Given the description of an element on the screen output the (x, y) to click on. 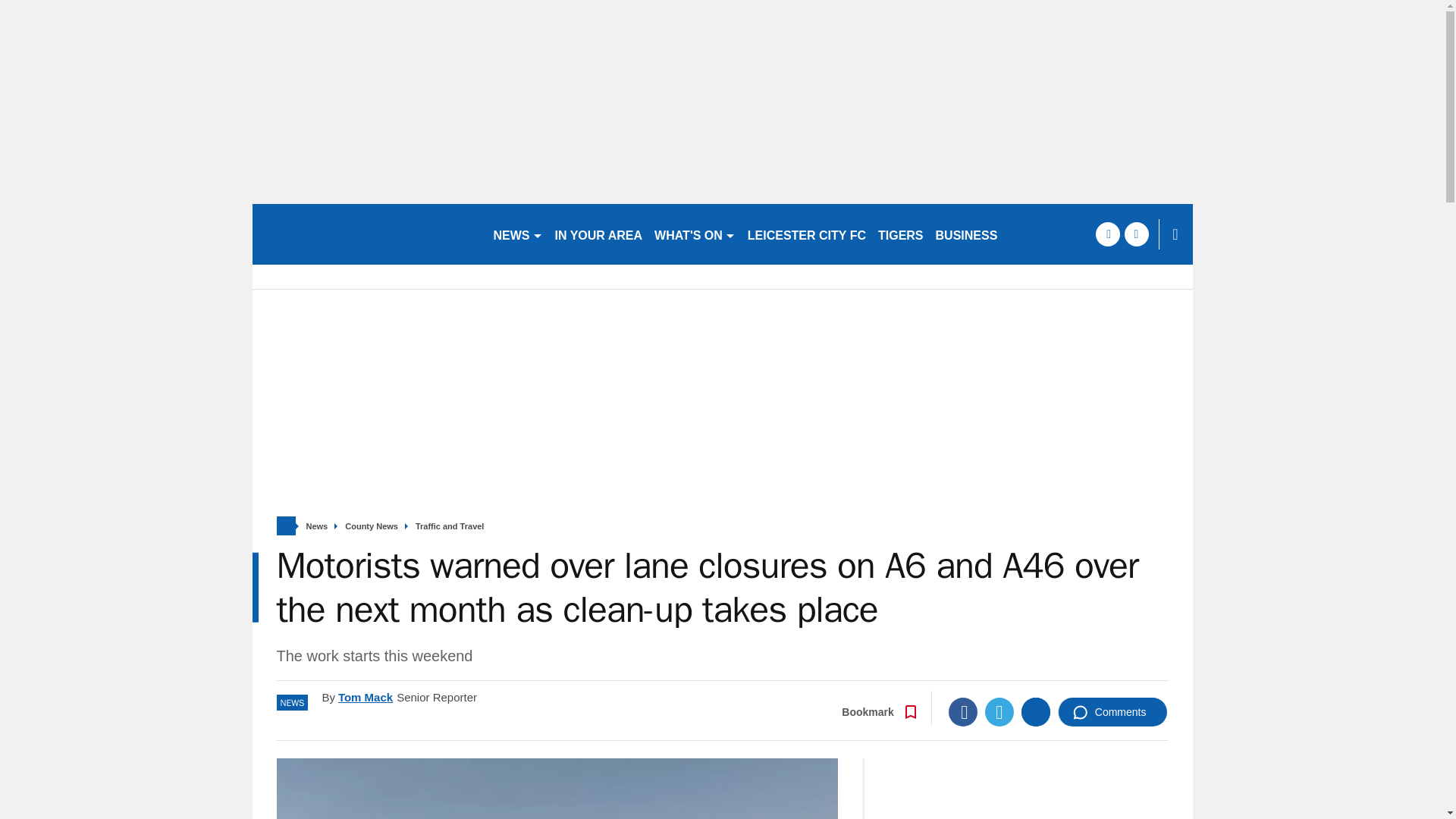
Twitter (999, 711)
NEWS (517, 233)
Facebook (962, 711)
IN YOUR AREA (598, 233)
BUSINESS (967, 233)
facebook (1106, 233)
leicestermercury (365, 233)
TIGERS (901, 233)
twitter (1136, 233)
LEICESTER CITY FC (806, 233)
